Given the description of an element on the screen output the (x, y) to click on. 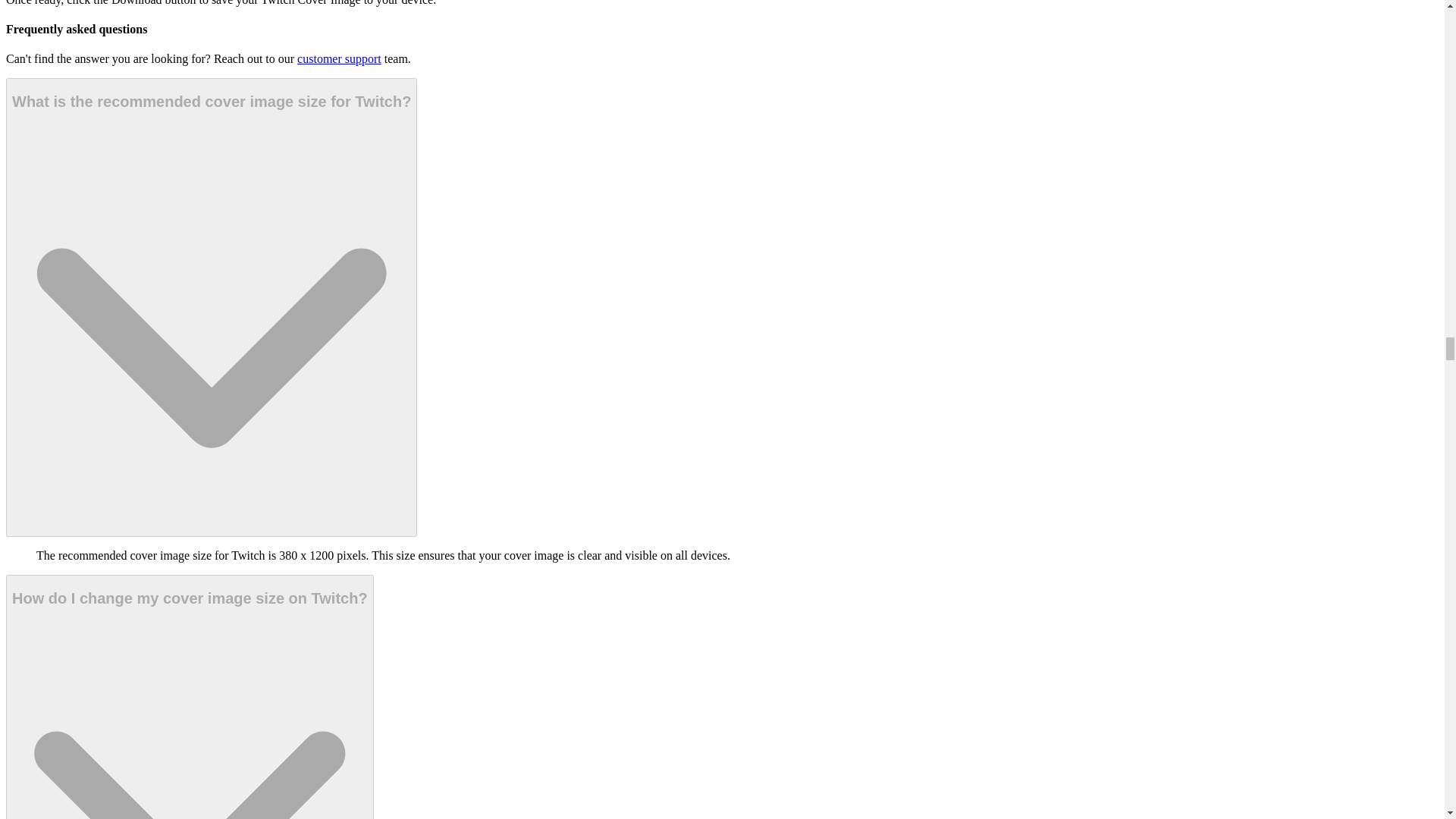
How do I change my cover image size on Twitch? (189, 696)
customer support (339, 58)
